Given the description of an element on the screen output the (x, y) to click on. 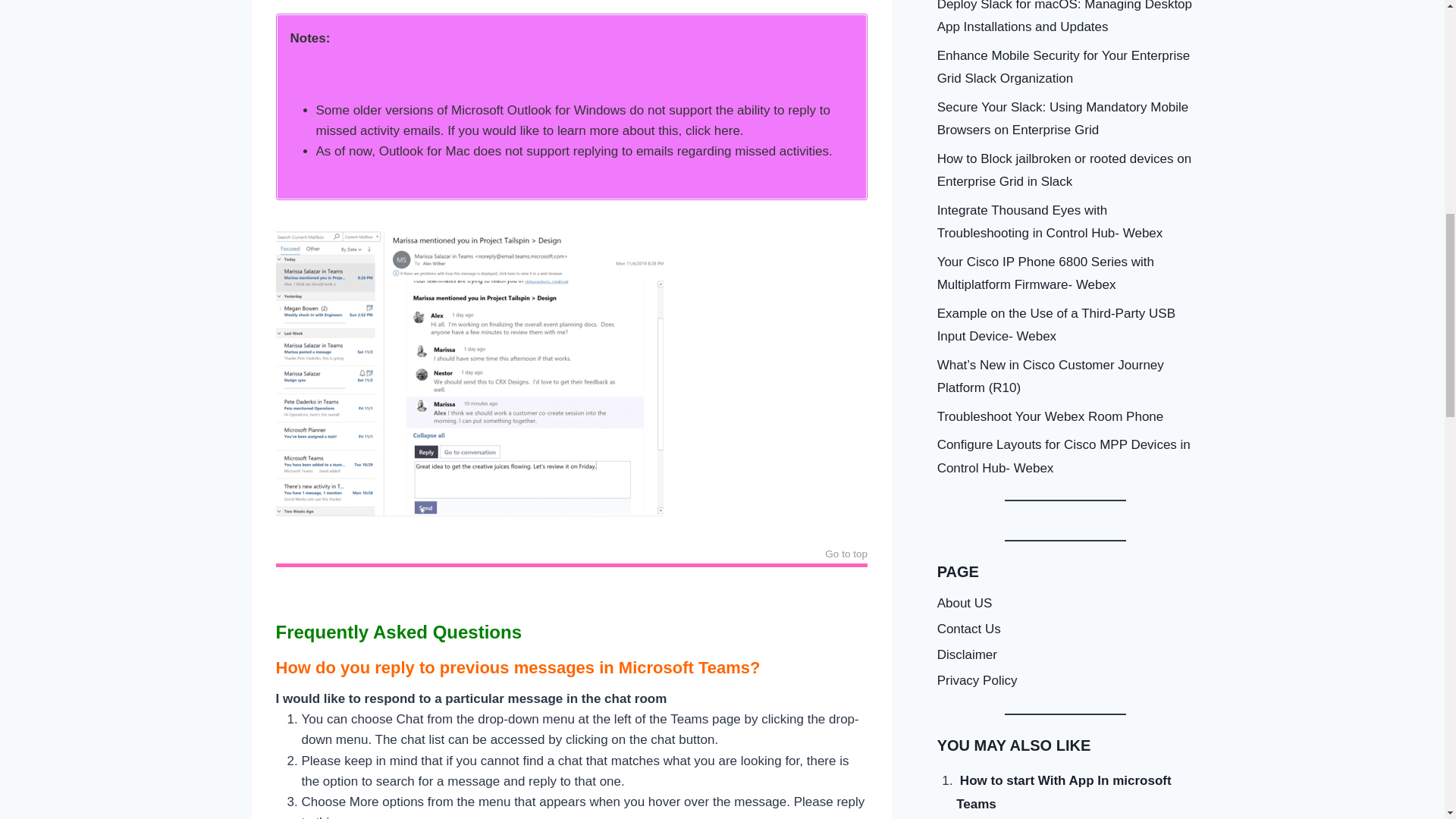
Go to top (846, 555)
